Given the description of an element on the screen output the (x, y) to click on. 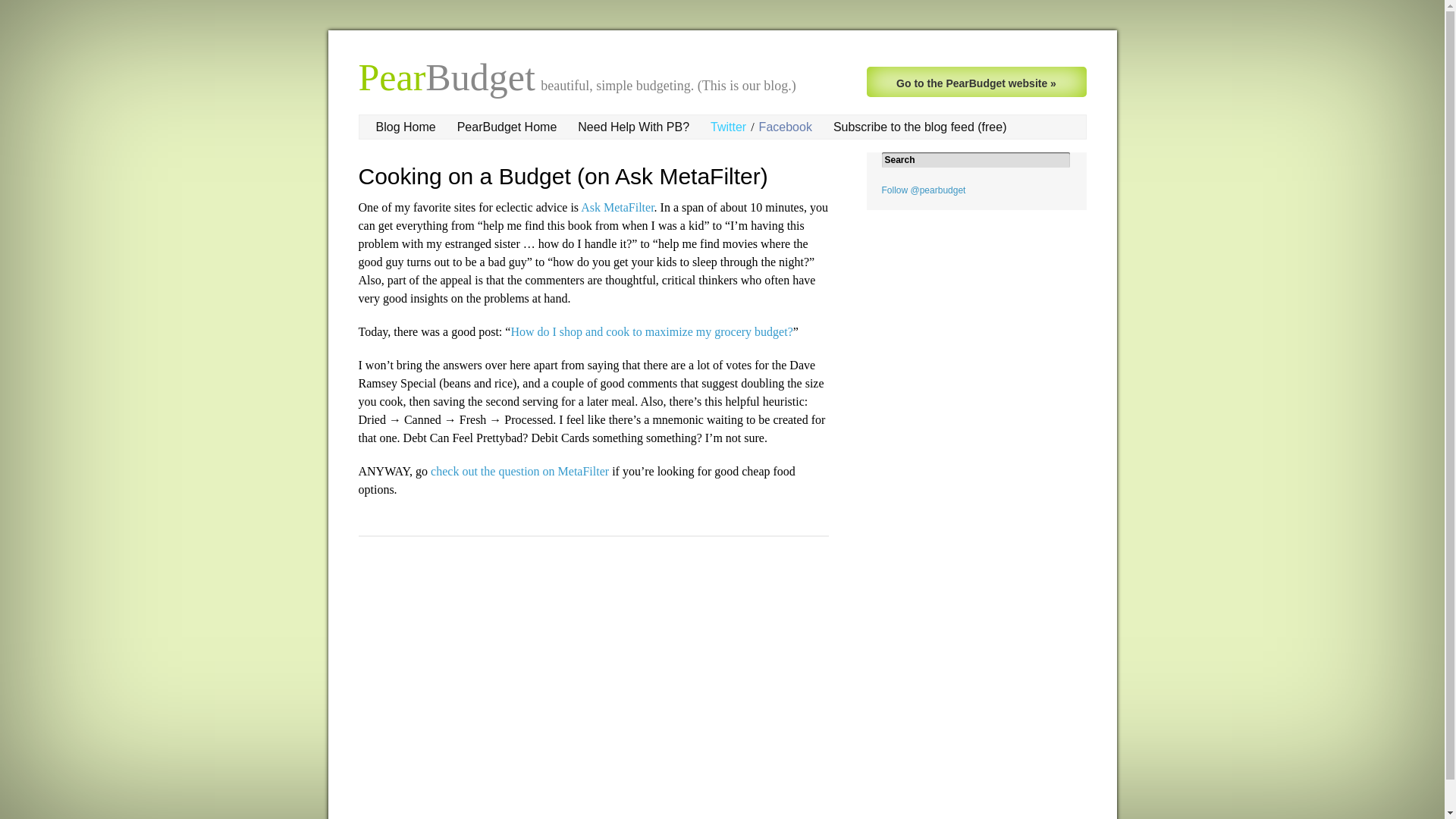
Ask MetaFilter (616, 206)
Blog Home (406, 126)
Twitter (728, 126)
check out the question on MetaFilter (519, 471)
PearBudget Home (507, 126)
Need Help With PB? (633, 126)
